Given the description of an element on the screen output the (x, y) to click on. 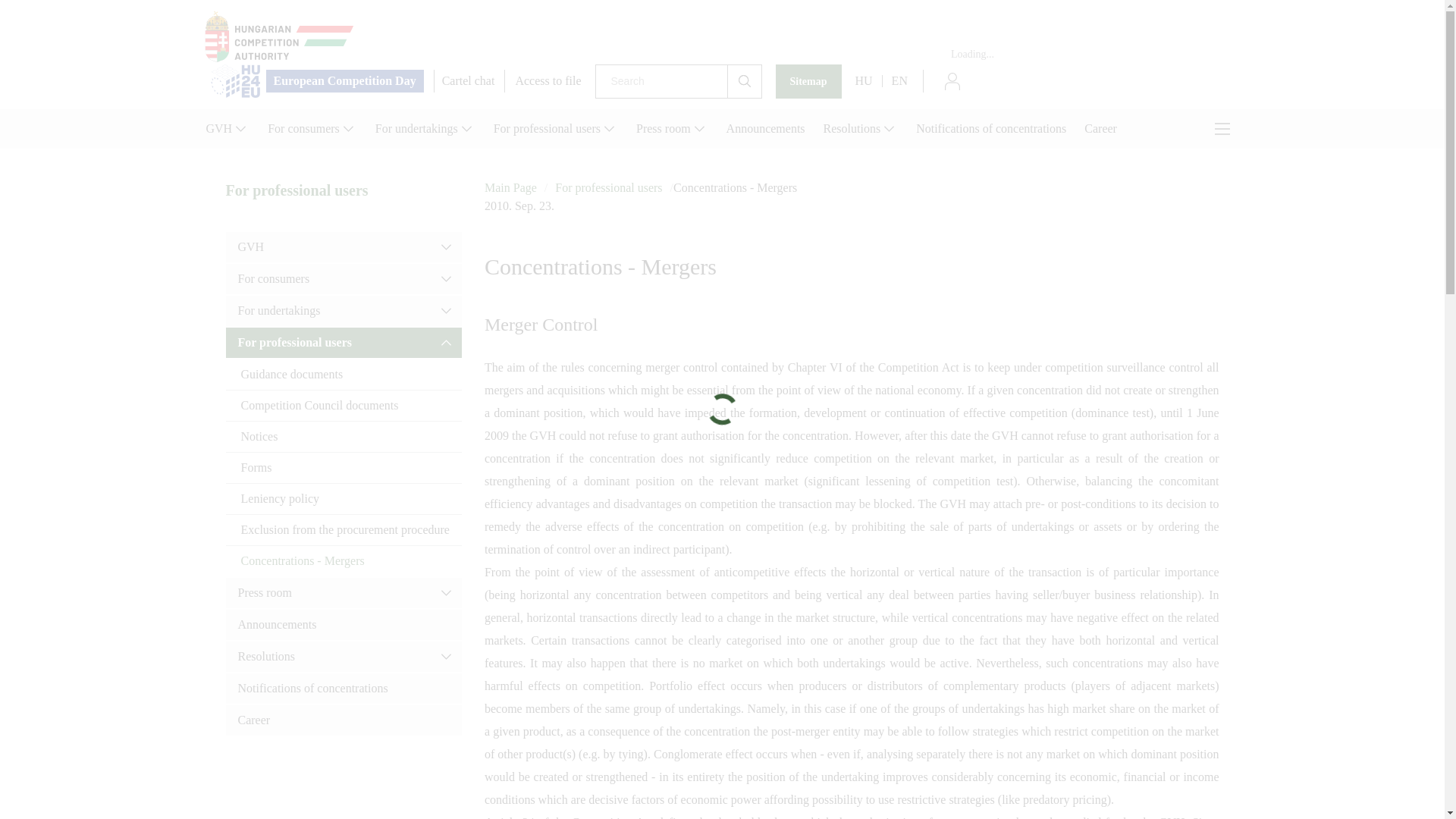
Hungarian Competition Authority (722, 36)
Hungarian Competition Authority (722, 36)
Access to file (547, 80)
Jump to mainpage (279, 36)
Cartel chat (468, 80)
HU (864, 81)
Sitemap (807, 81)
GVH (226, 128)
European Competition Day (317, 81)
